Given the description of an element on the screen output the (x, y) to click on. 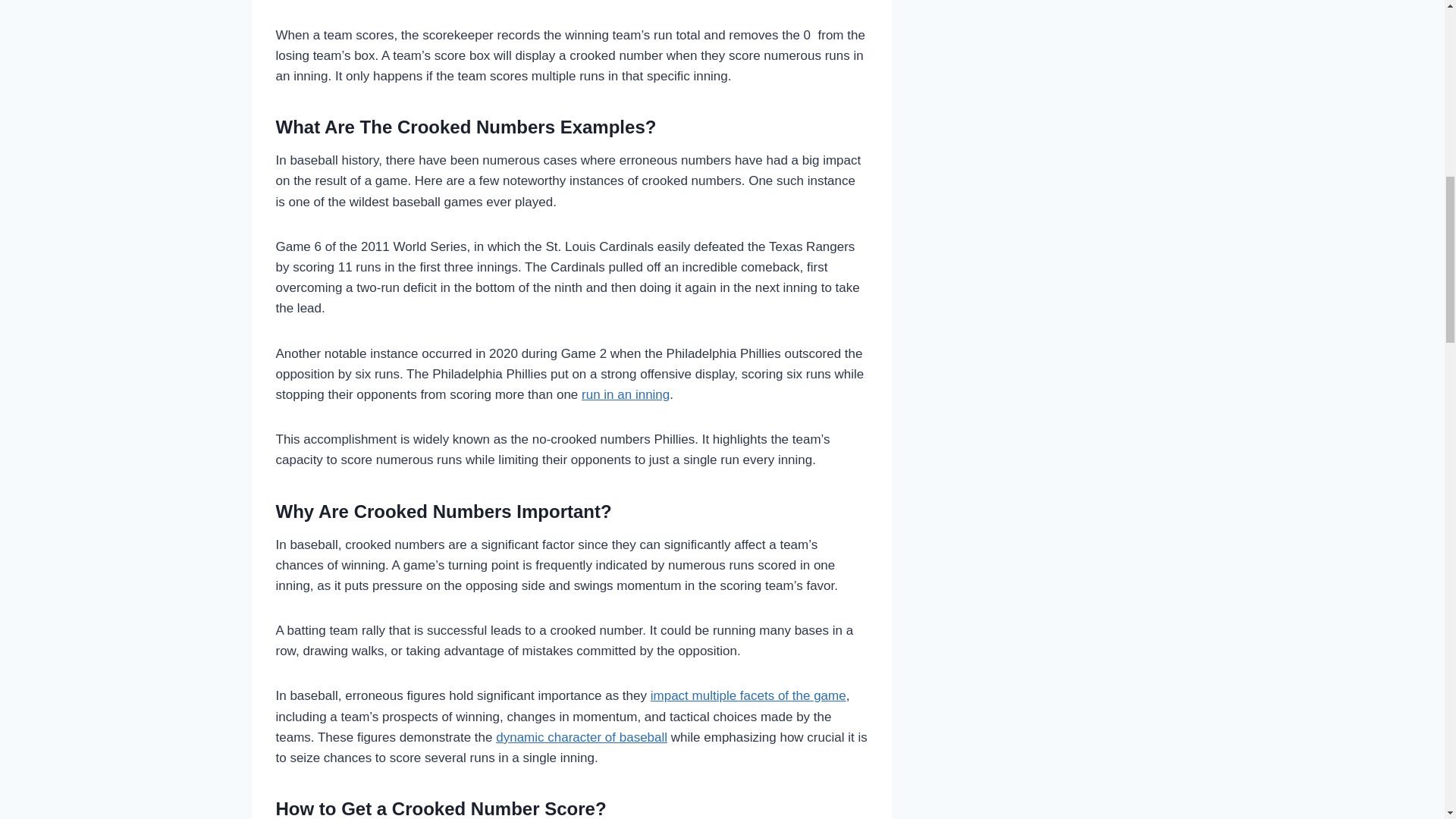
impact multiple facets of the game (747, 695)
run in an inning (624, 394)
dynamic character of baseball (581, 737)
